Given the description of an element on the screen output the (x, y) to click on. 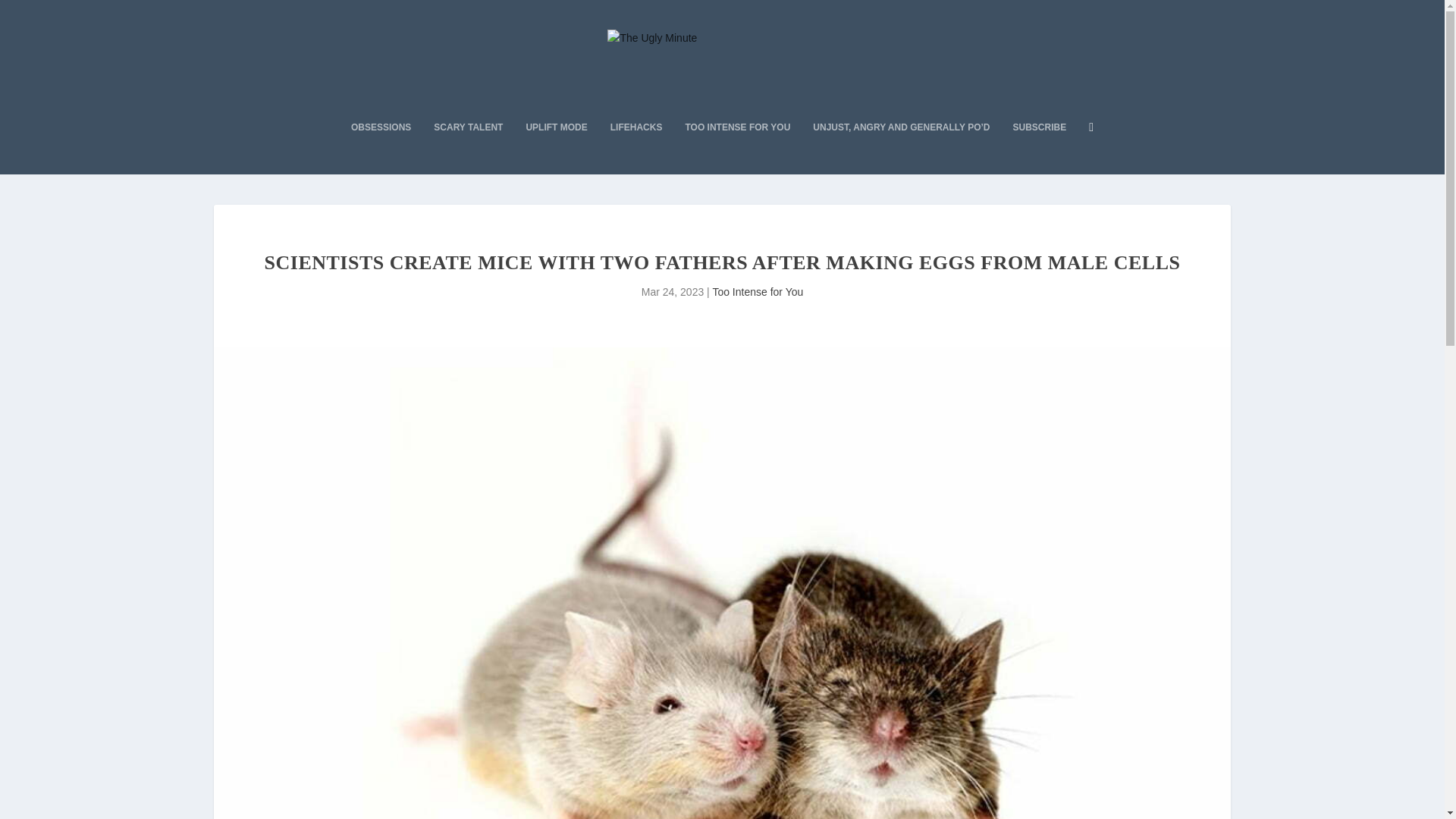
SUBSCRIBE (1040, 147)
LIFEHACKS (636, 147)
TOO INTENSE FOR YOU (737, 147)
OBSESSIONS (380, 147)
UPLIFT MODE (555, 147)
SCARY TALENT (467, 147)
Too Intense for You (757, 291)
